Given the description of an element on the screen output the (x, y) to click on. 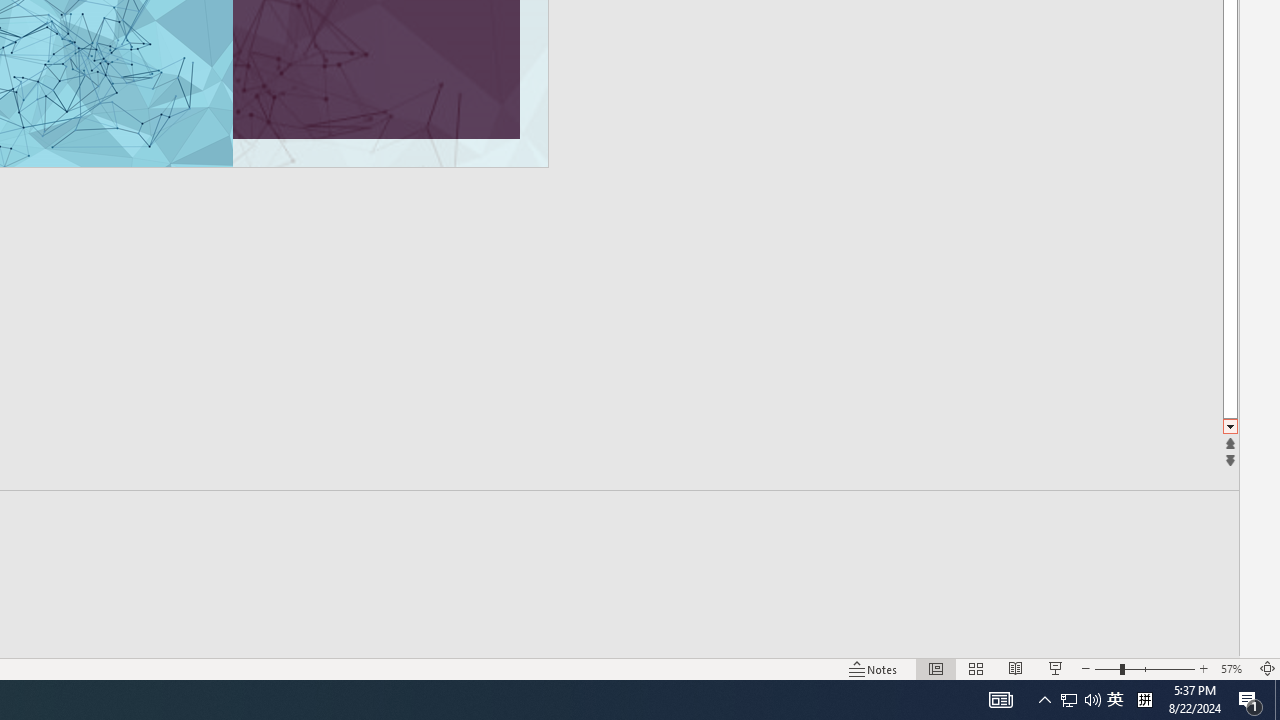
Zoom 57% (1234, 668)
